Given the description of an element on the screen output the (x, y) to click on. 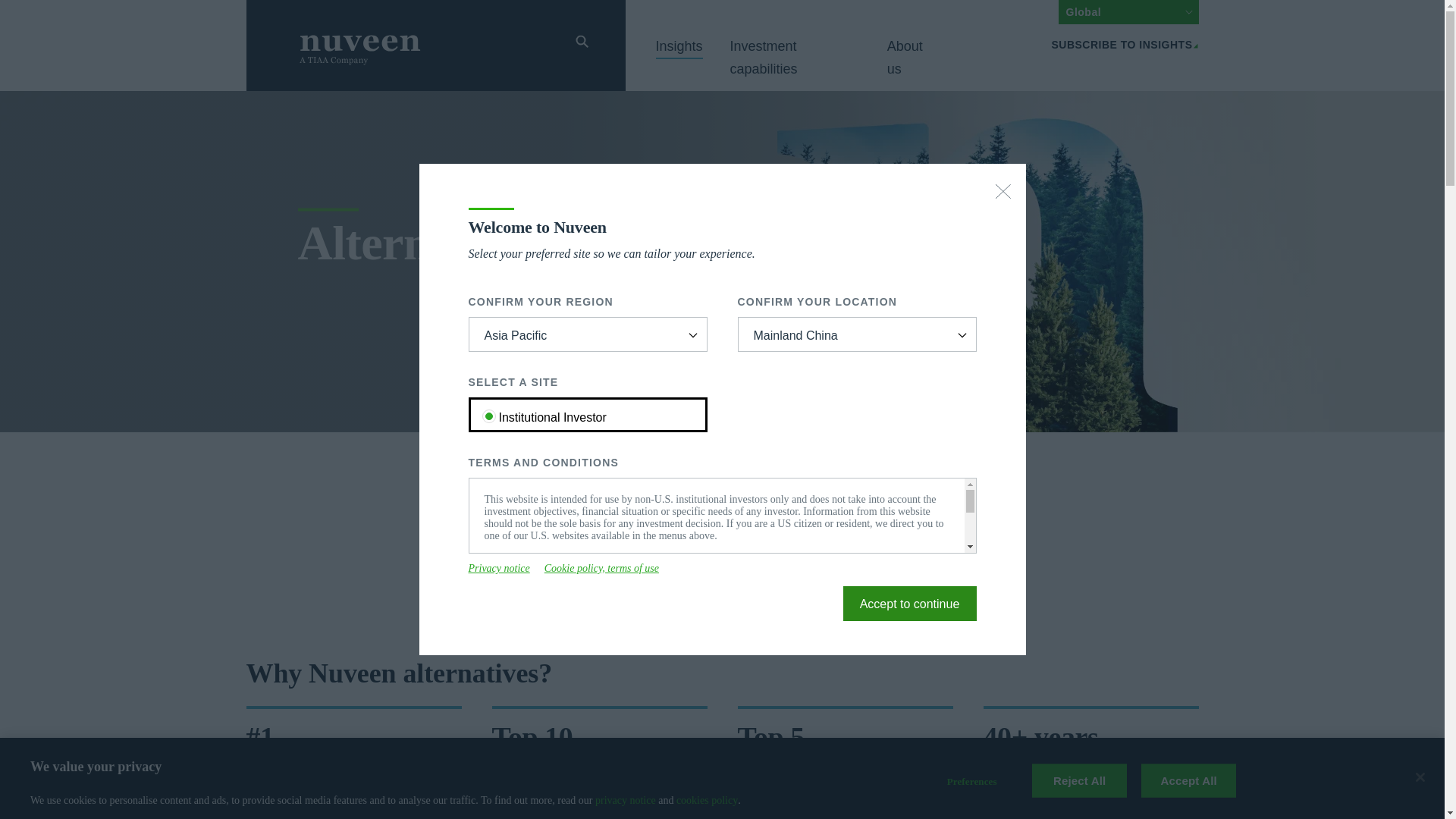
SUBSCRIBE TO INSIGHTS (1124, 44)
Skip to main content (236, 9)
opens in a new window (561, 604)
opens in the same window (909, 603)
Cookie policy, terms of use (601, 568)
opens in a new window (601, 568)
opens in a new window (498, 568)
Global (1128, 12)
Privacy notice (498, 568)
